Given the description of an element on the screen output the (x, y) to click on. 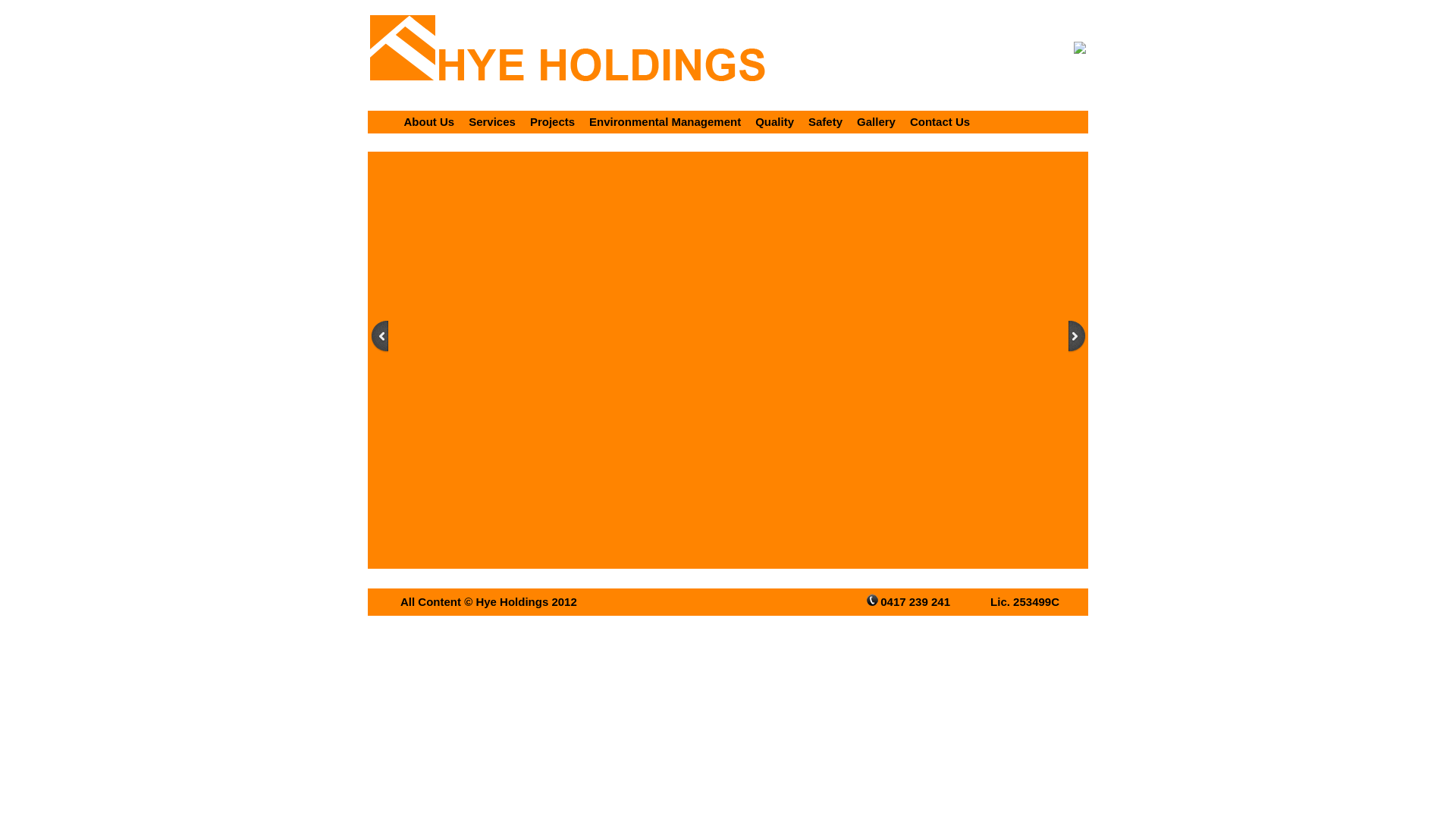
Safety Element type: text (825, 121)
Contact Us Element type: text (939, 121)
Quality Element type: text (774, 121)
Environmental Management Element type: text (664, 121)
Services Element type: text (491, 121)
Gallery Element type: text (875, 121)
About Us Element type: text (428, 121)
Projects Element type: text (552, 121)
